Given the description of an element on the screen output the (x, y) to click on. 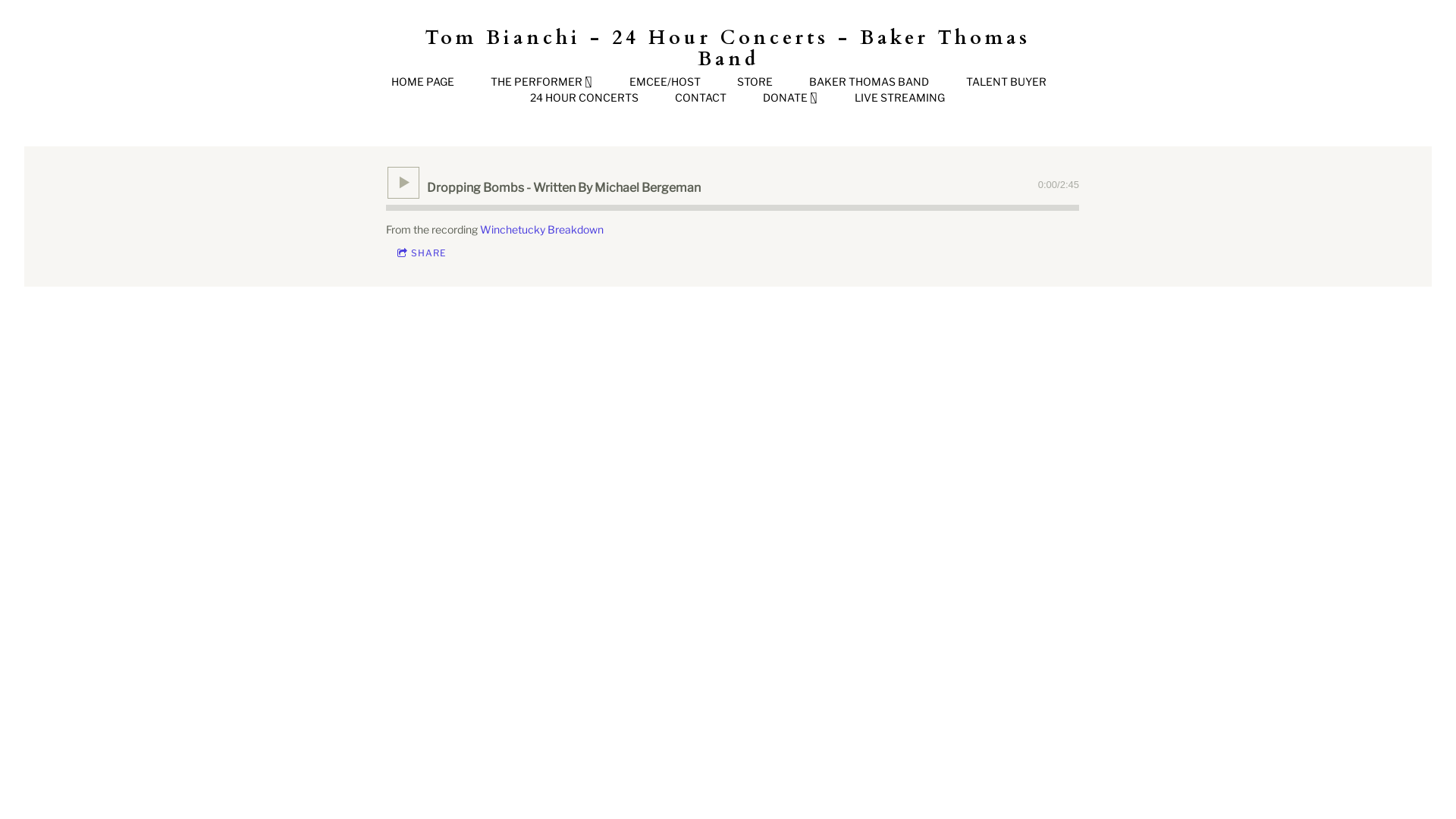
THE PERFORMER Element type: text (541, 81)
LIVE STREAMING Element type: text (899, 97)
BAKER THOMAS BAND Element type: text (868, 81)
STORE Element type: text (754, 81)
24 HOUR CONCERTS Element type: text (584, 97)
DONATE Element type: text (789, 97)
Play Element type: hover (403, 182)
TALENT BUYER Element type: text (1006, 81)
SHARE Element type: text (421, 253)
HOME PAGE Element type: text (422, 81)
CONTACT Element type: text (700, 97)
EMCEE/HOST Element type: text (664, 81)
Winchetucky Breakdown Element type: text (541, 228)
Tom Bianchi - 24 Hour Concerts - Baker Thomas Band Element type: text (727, 48)
